Given the description of an element on the screen output the (x, y) to click on. 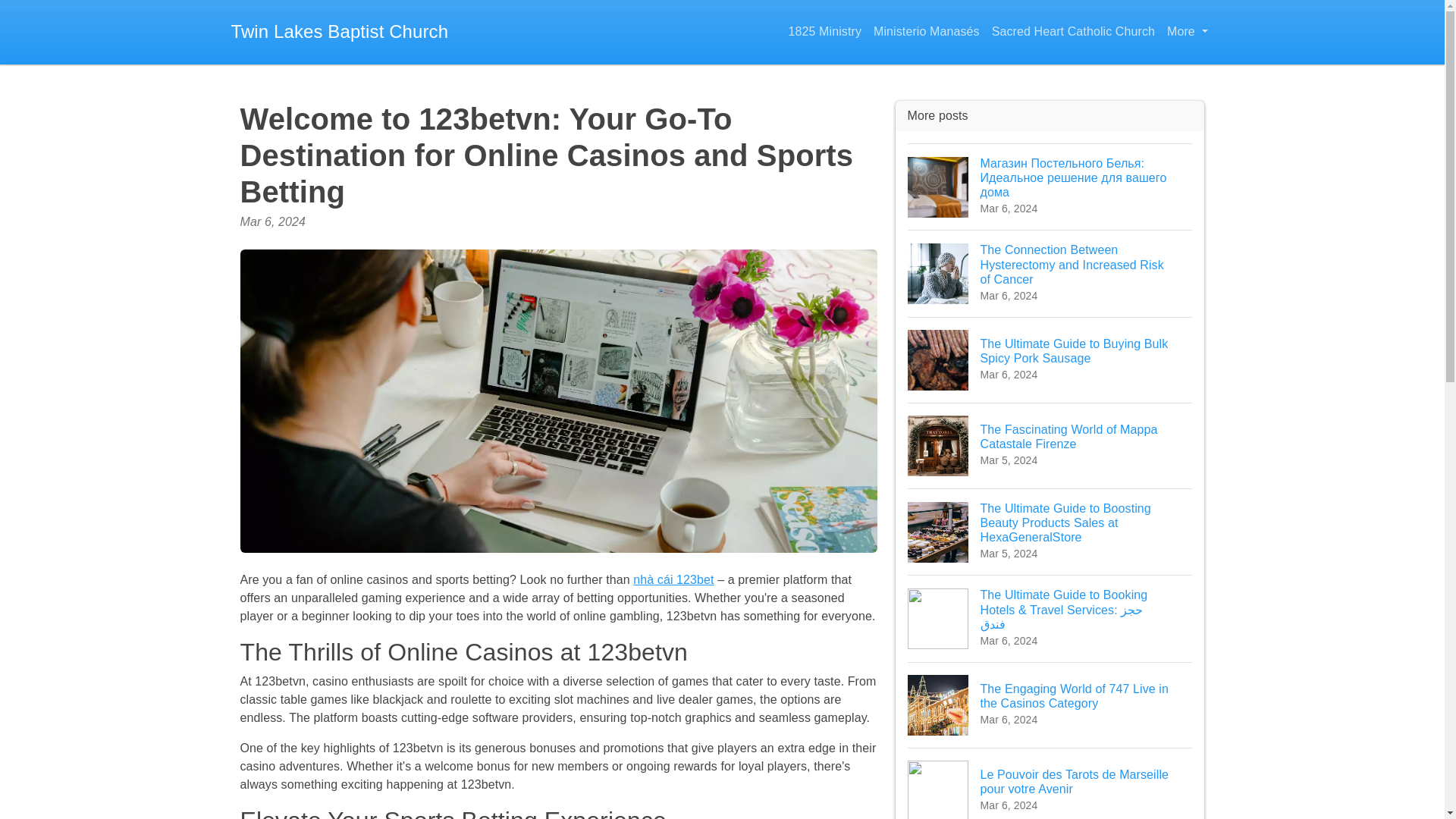
More (1049, 445)
1825 Ministry (1186, 32)
Sacred Heart Catholic Church (825, 32)
Twin Lakes Baptist Church (1072, 32)
